Given the description of an element on the screen output the (x, y) to click on. 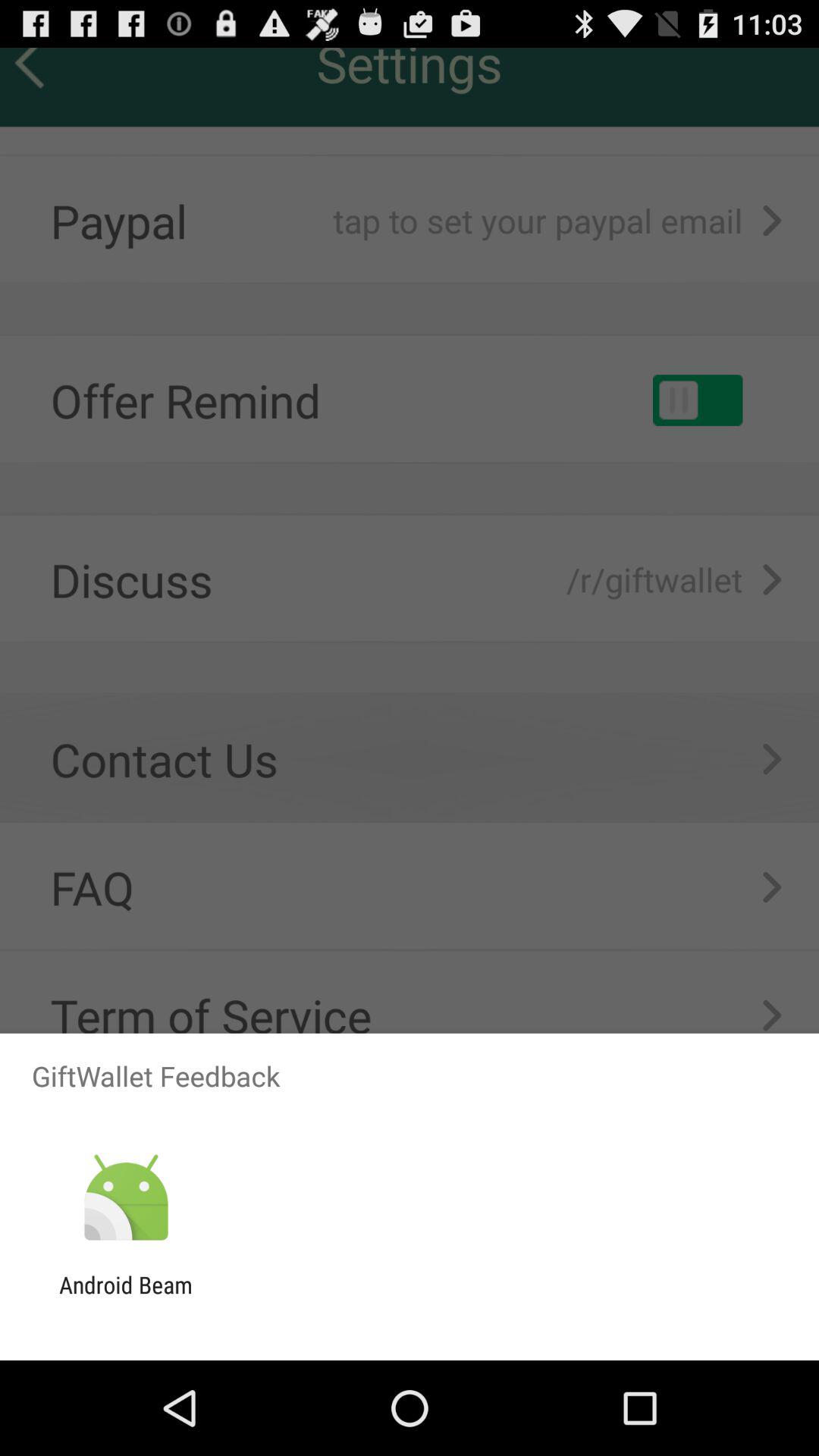
select the icon above android beam item (126, 1198)
